Given the description of an element on the screen output the (x, y) to click on. 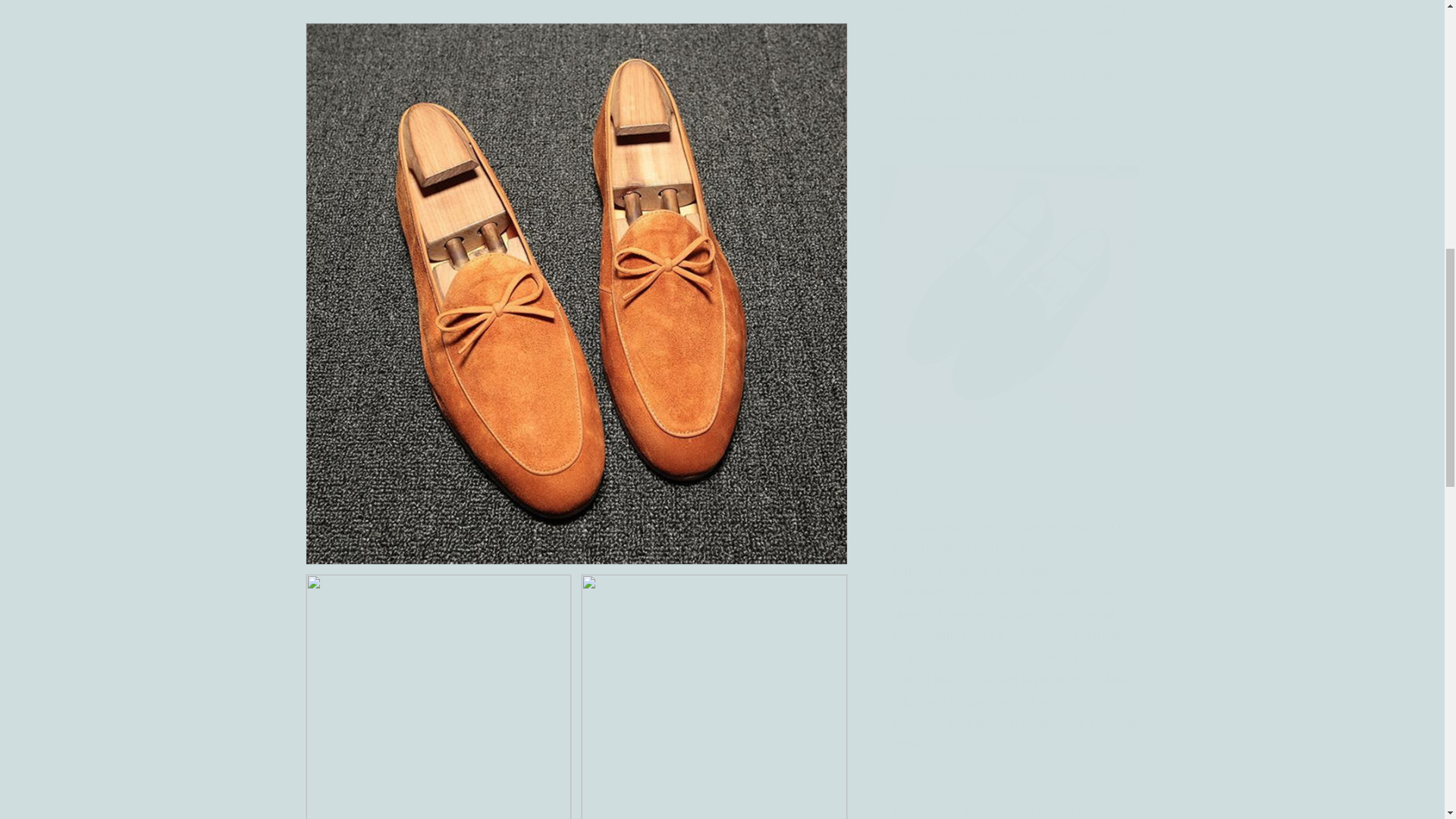
Open media 5 in modal (713, 278)
Open media 4 in modal (438, 278)
Open media 3 in modal (713, 68)
Open media 2 in modal (438, 68)
